Given the description of an element on the screen output the (x, y) to click on. 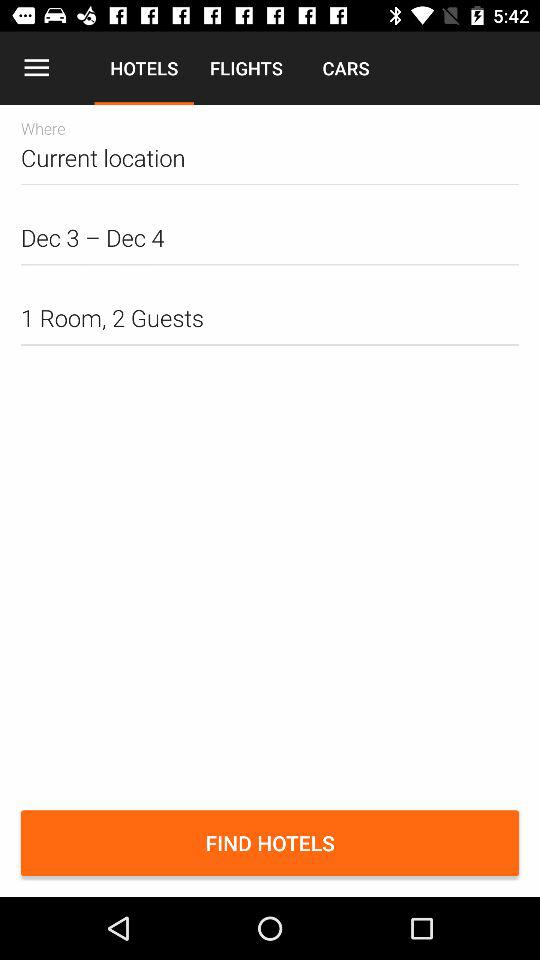
open item to the left of the hotels icon (36, 68)
